Given the description of an element on the screen output the (x, y) to click on. 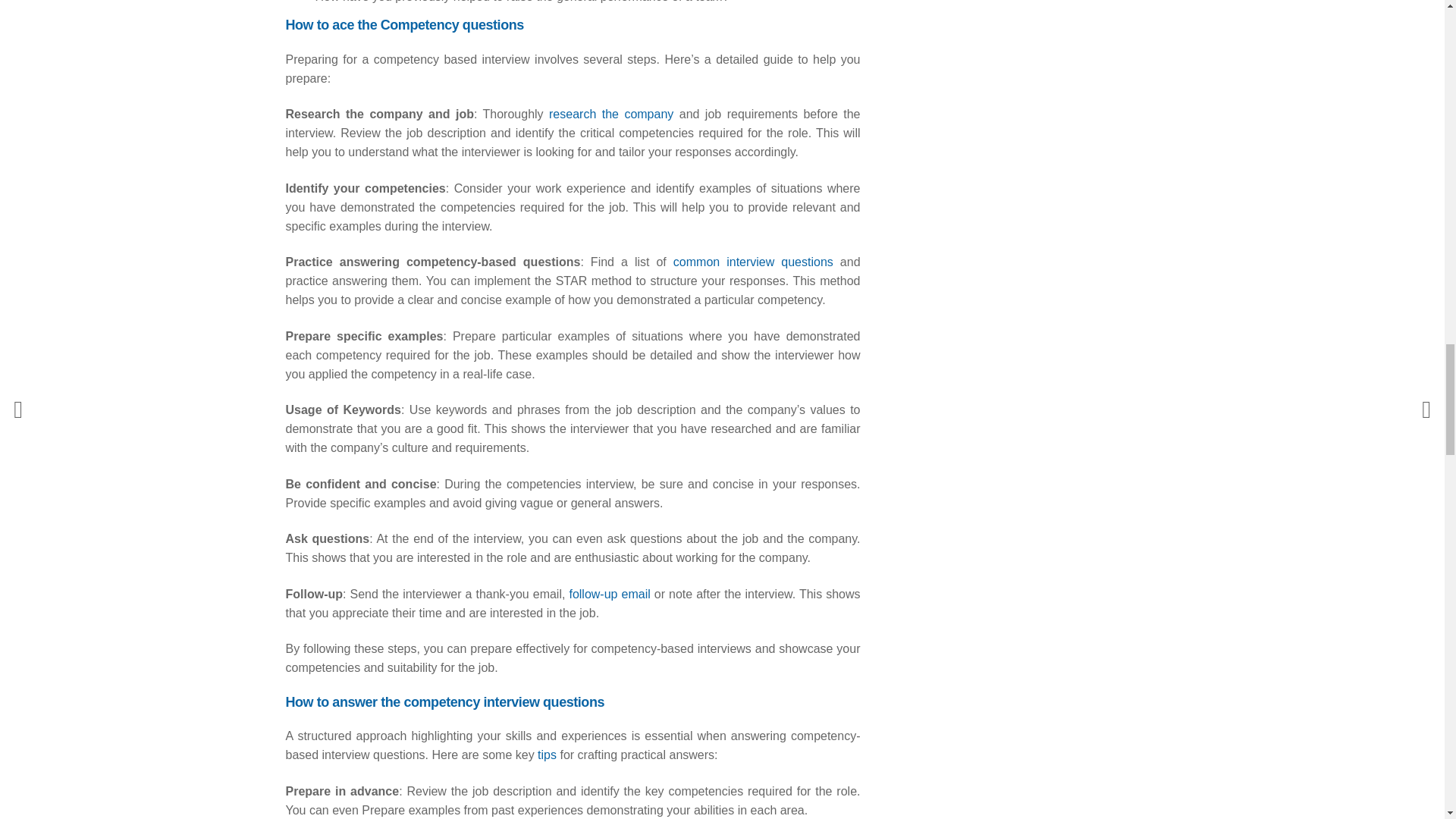
follow-up email (609, 594)
tips (546, 754)
research the company (610, 113)
common interview questions (752, 261)
